Given the description of an element on the screen output the (x, y) to click on. 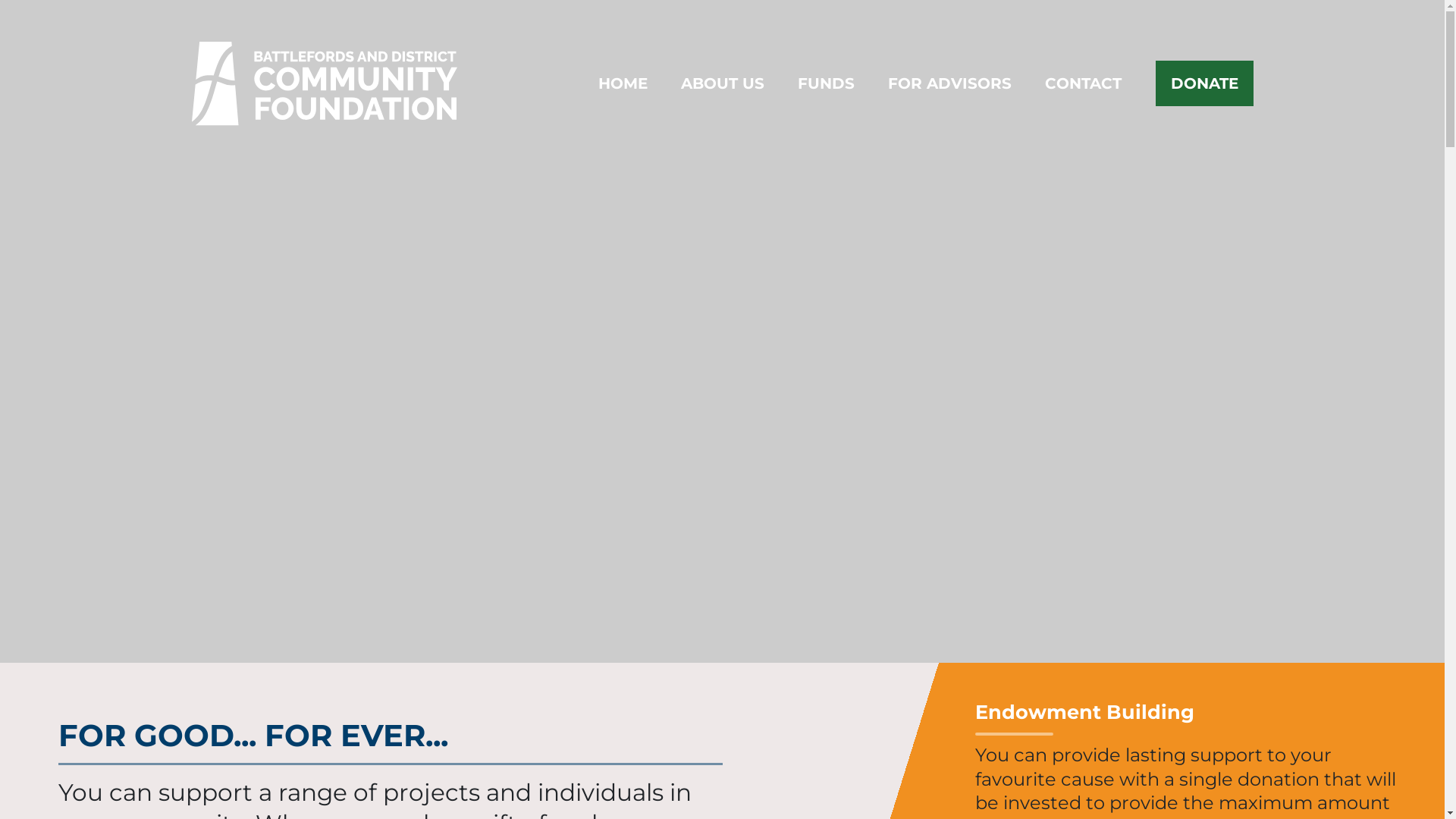
CONTACT Element type: text (1082, 83)
DONATE Element type: text (1204, 83)
ABOUT US Element type: text (722, 83)
HOME Element type: text (622, 83)
FUNDS Element type: text (825, 83)
FOR ADVISORS Element type: text (949, 83)
